Given the description of an element on the screen output the (x, y) to click on. 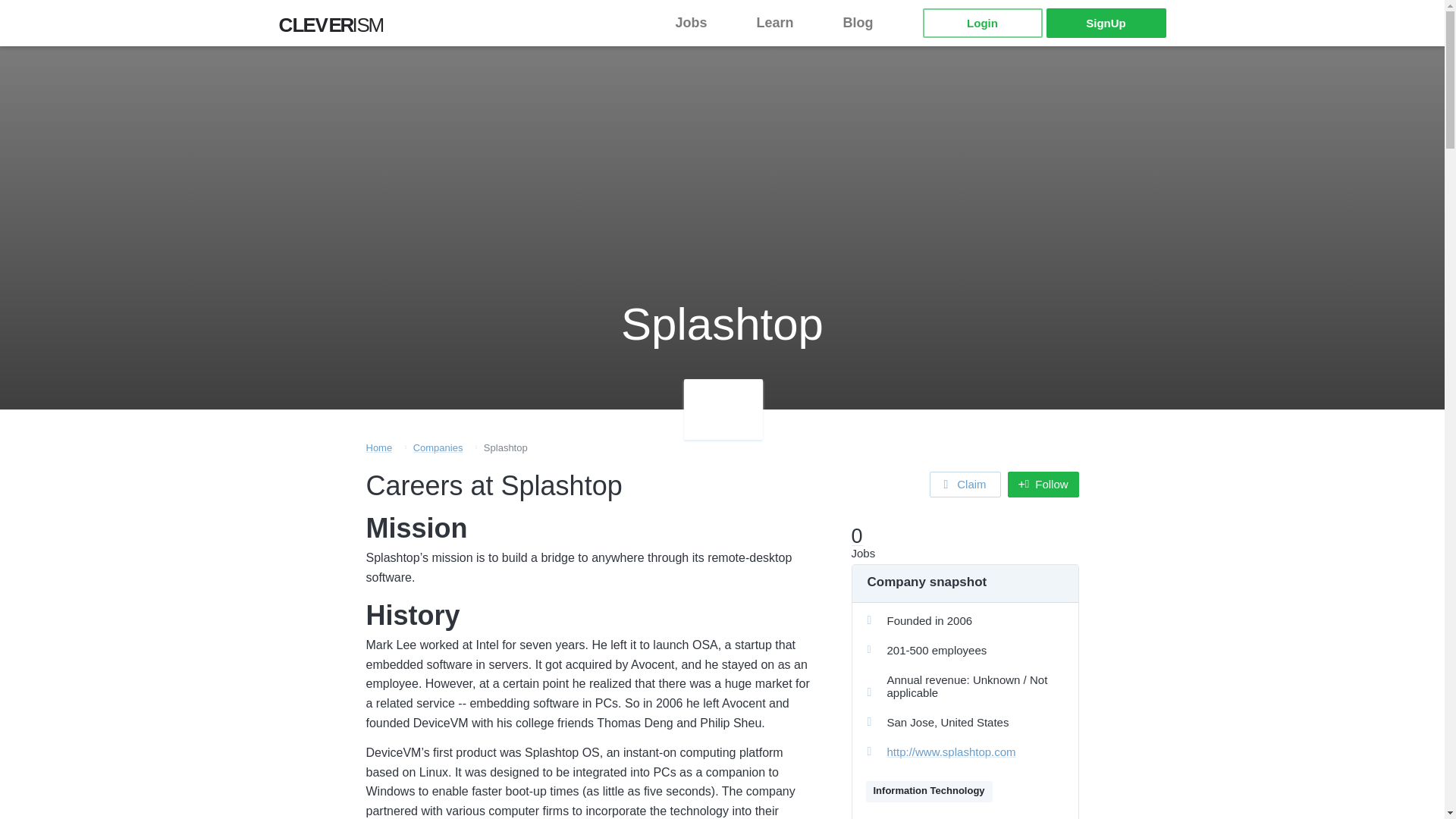
Blog (867, 22)
Learn (783, 22)
Companies (336, 28)
Home (438, 447)
Claim (378, 447)
SignUp (965, 484)
Jobs (1106, 22)
Login (700, 22)
Information Technology (981, 22)
